Given the description of an element on the screen output the (x, y) to click on. 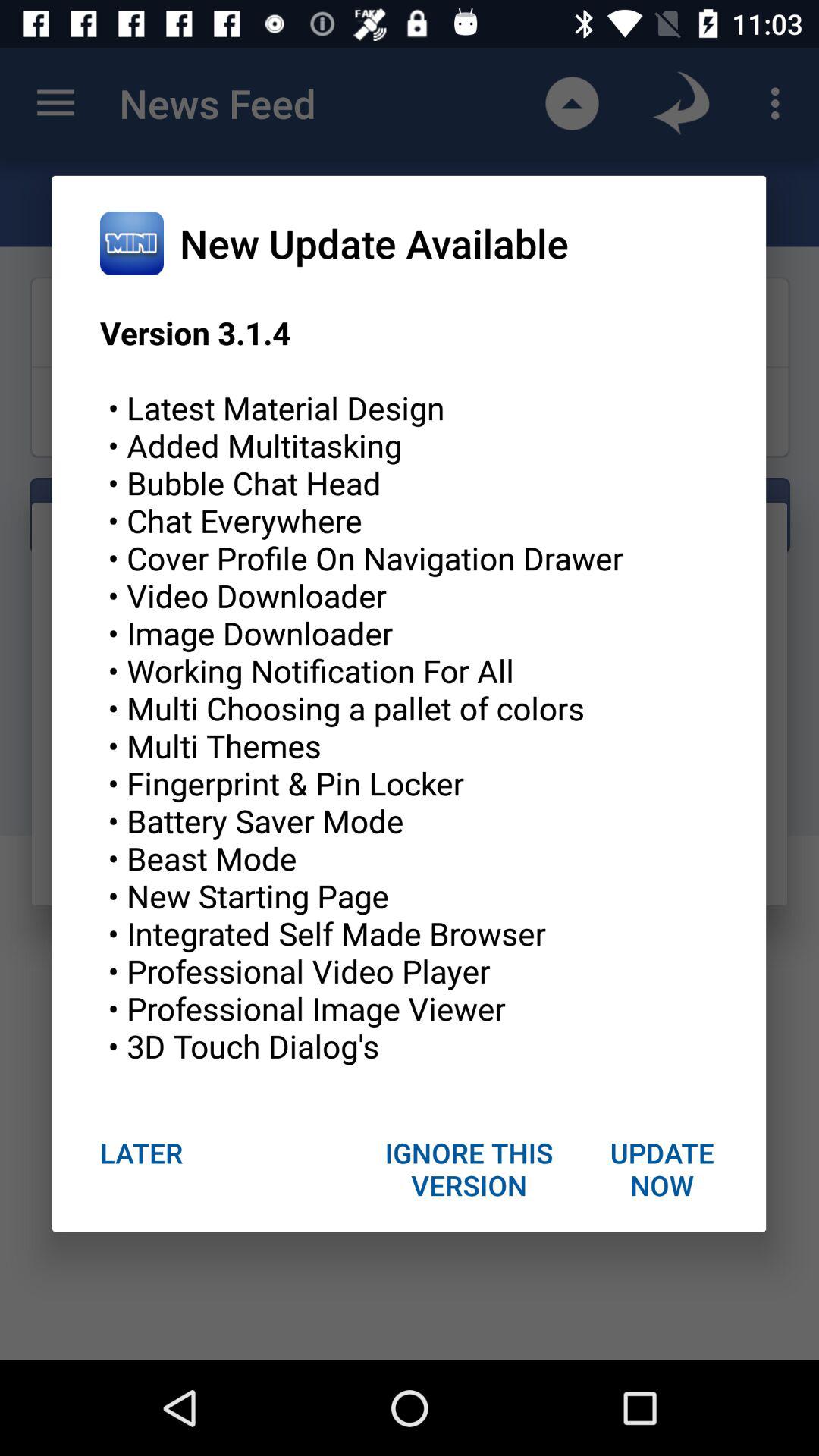
swipe to later (141, 1153)
